Given the description of an element on the screen output the (x, y) to click on. 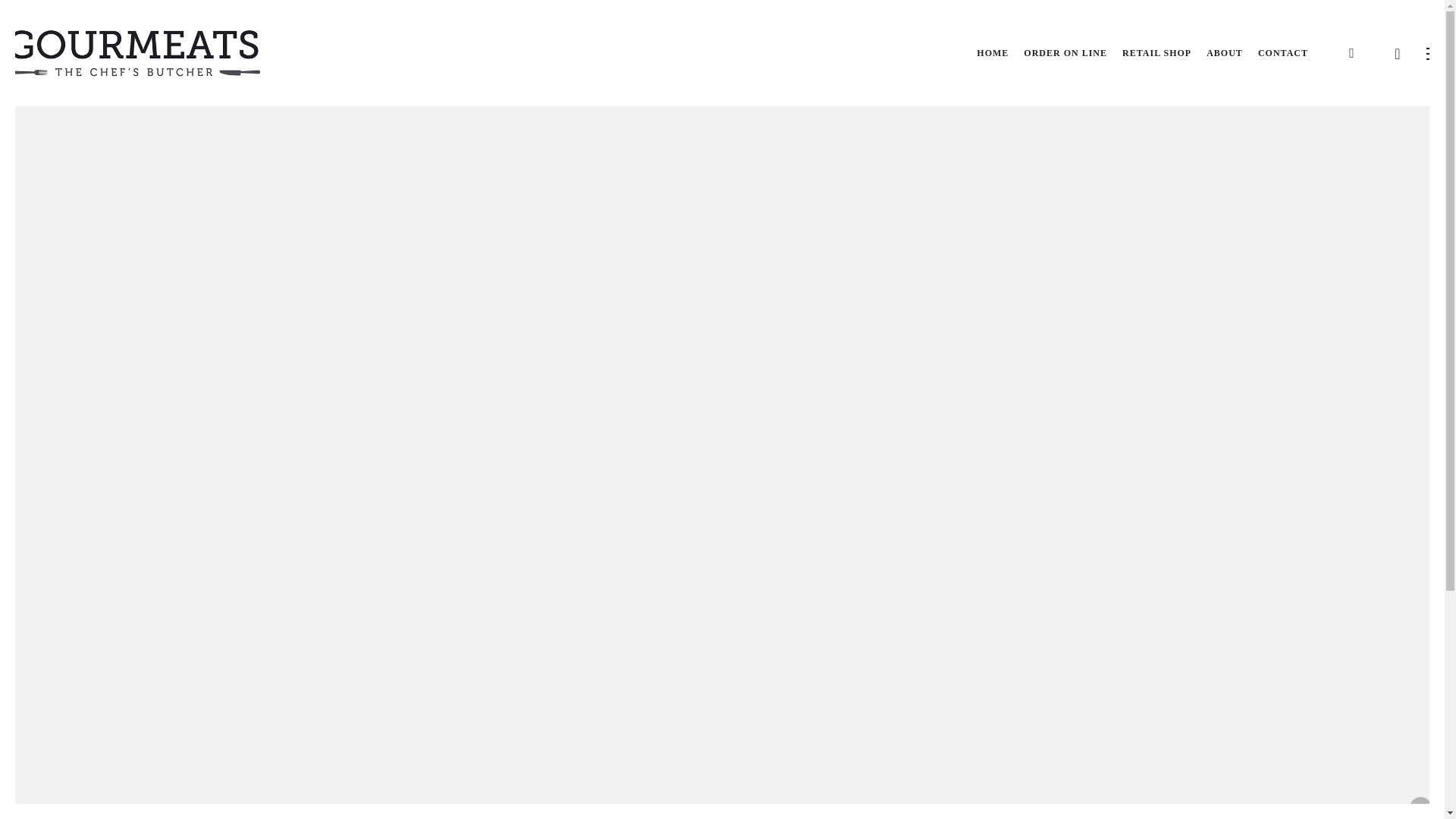
ABOUT (1225, 52)
CONTACT (1282, 52)
HOME (992, 52)
ORDER ON LINE (1064, 52)
RETAIL SHOP (1156, 52)
